Given the description of an element on the screen output the (x, y) to click on. 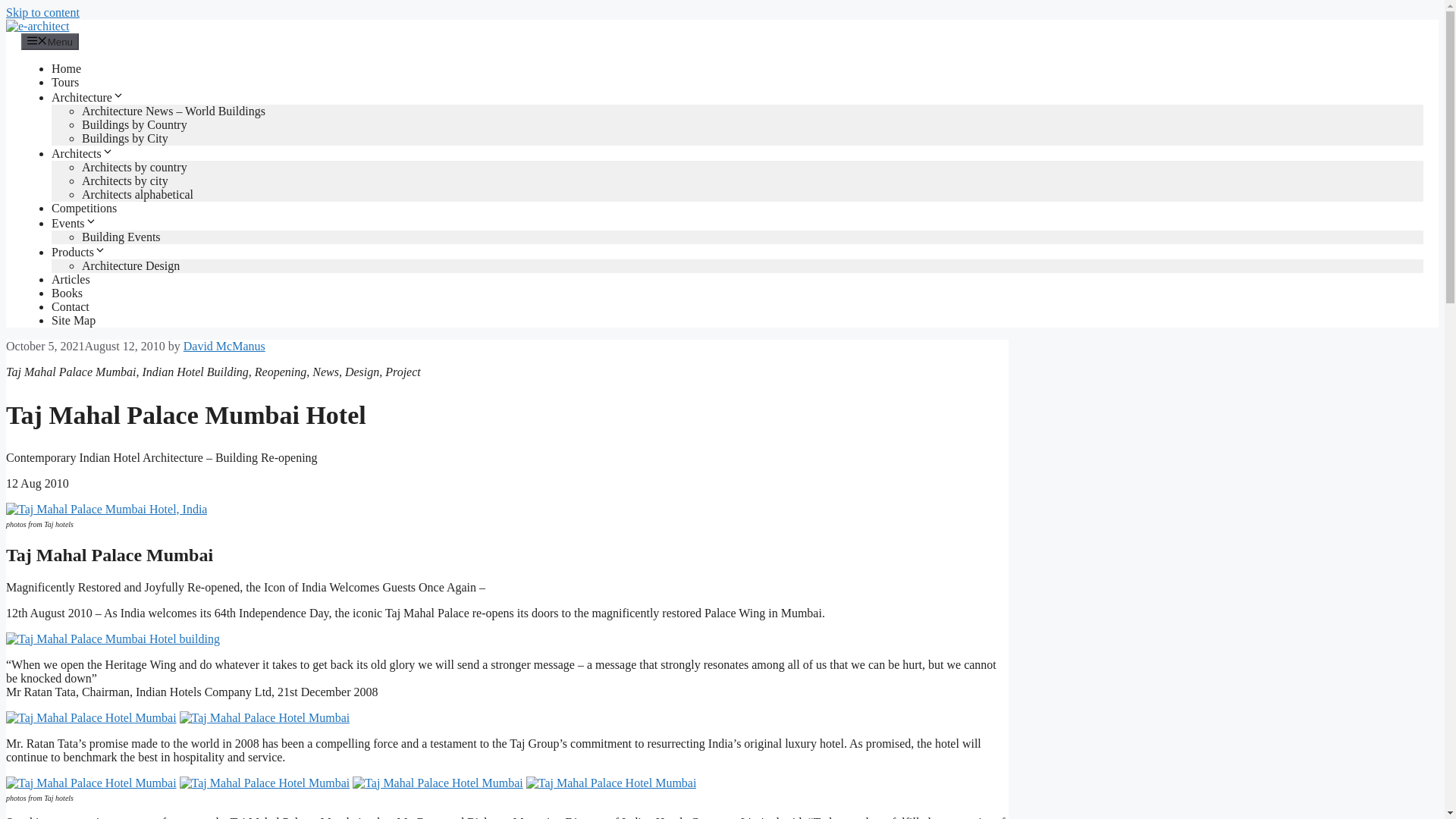
Events (73, 223)
Contact (69, 306)
Buildings by Country (134, 124)
Books (66, 292)
Architecture Design (130, 265)
David McManus (223, 345)
Competitions (83, 207)
Products (78, 251)
Skip to content (42, 11)
Architects by country (134, 166)
Skip to content (42, 11)
Tours (64, 82)
Home (65, 68)
Site Map (73, 319)
Architects alphabetical (137, 194)
